Given the description of an element on the screen output the (x, y) to click on. 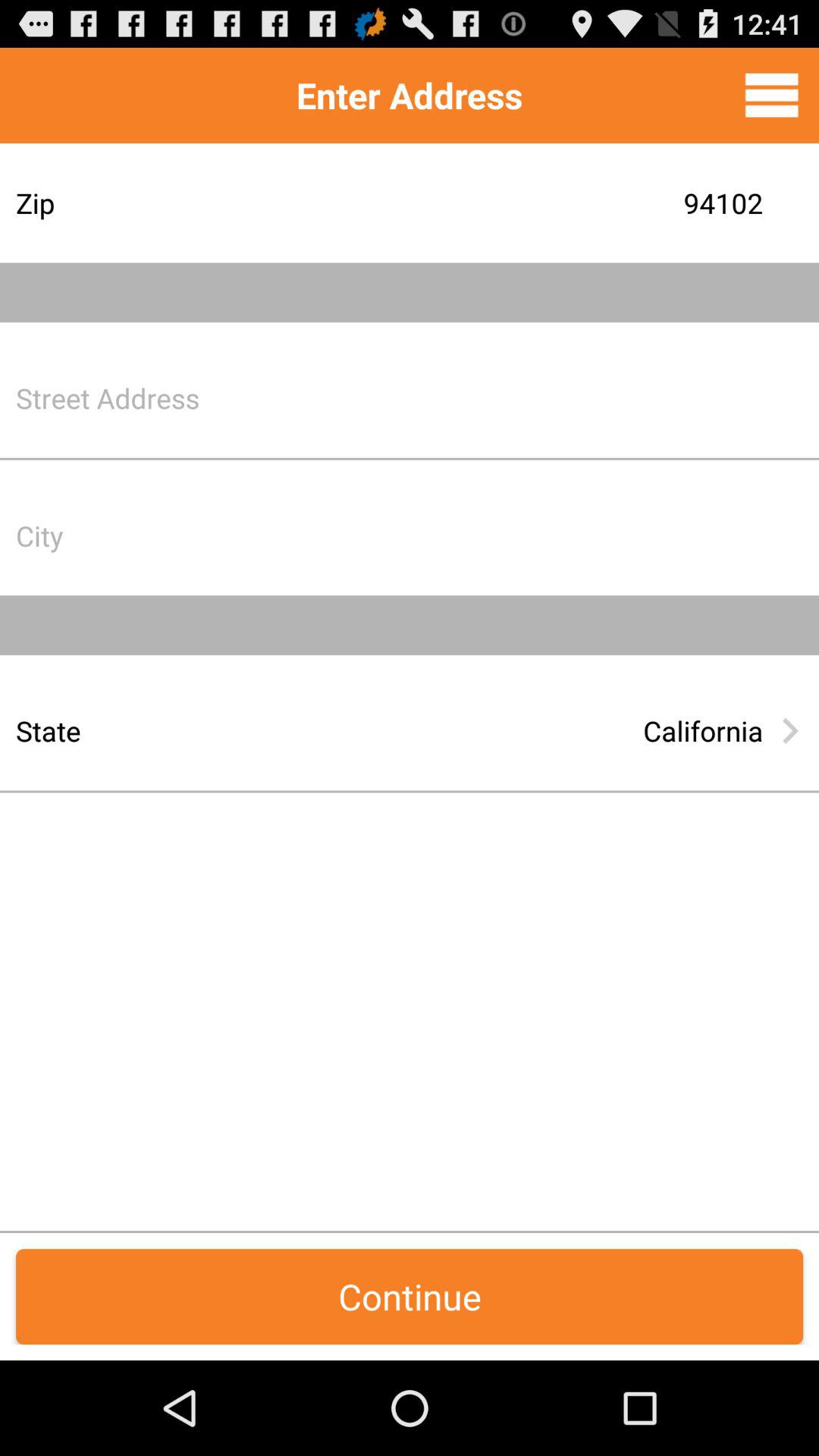
choose the continue item (409, 1296)
